Given the description of an element on the screen output the (x, y) to click on. 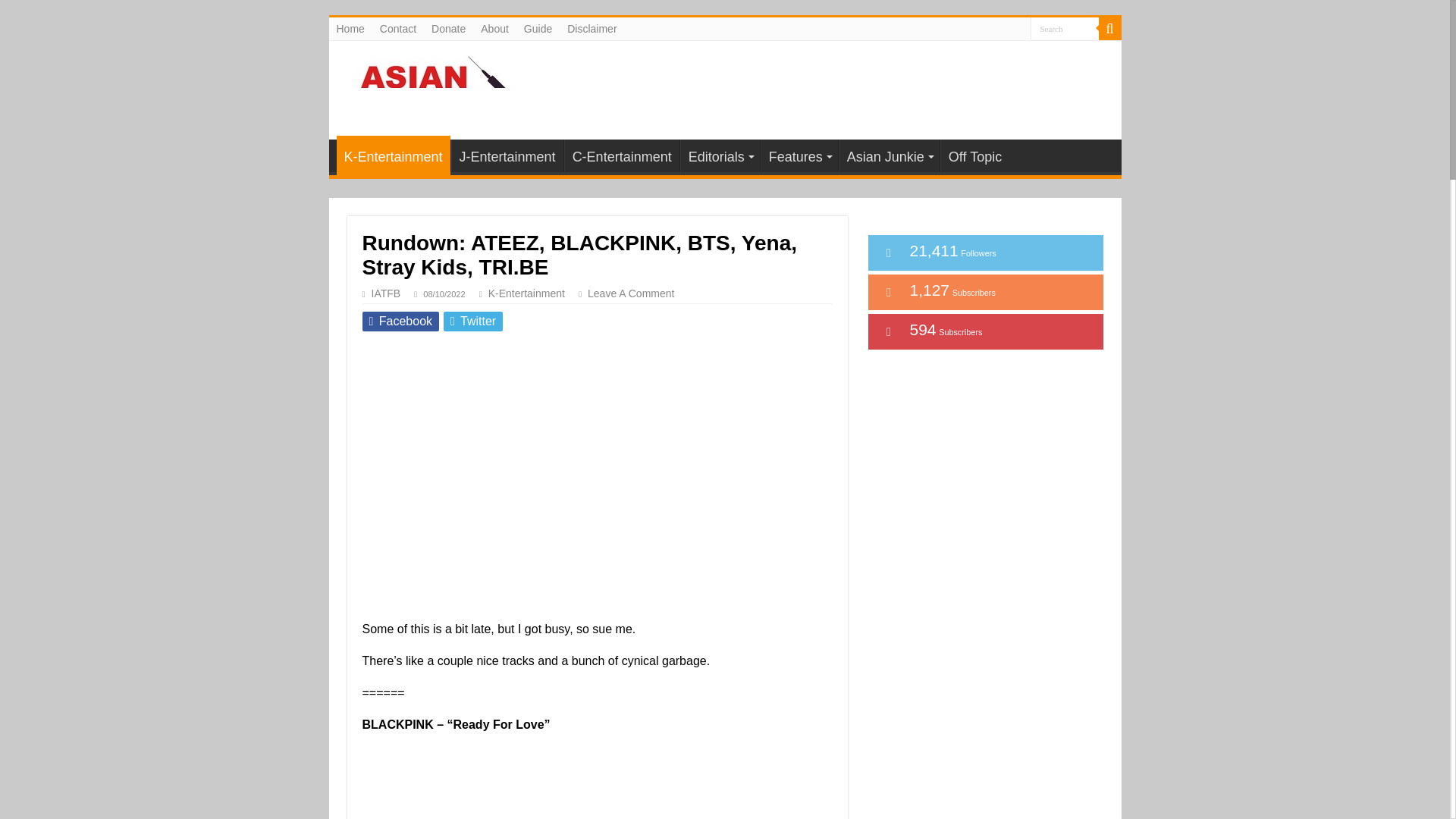
J-Entertainment (507, 155)
Donate (448, 28)
K-Entertainment (525, 293)
Home (350, 28)
Leave A Comment (636, 293)
Search (1063, 28)
Disclaimer (591, 28)
Contact (397, 28)
About (494, 28)
Off Topic (974, 155)
Search (1063, 28)
K-Entertainment (392, 155)
Search (1063, 28)
IATFB (386, 293)
Asian Junkie (438, 86)
